Given the description of an element on the screen output the (x, y) to click on. 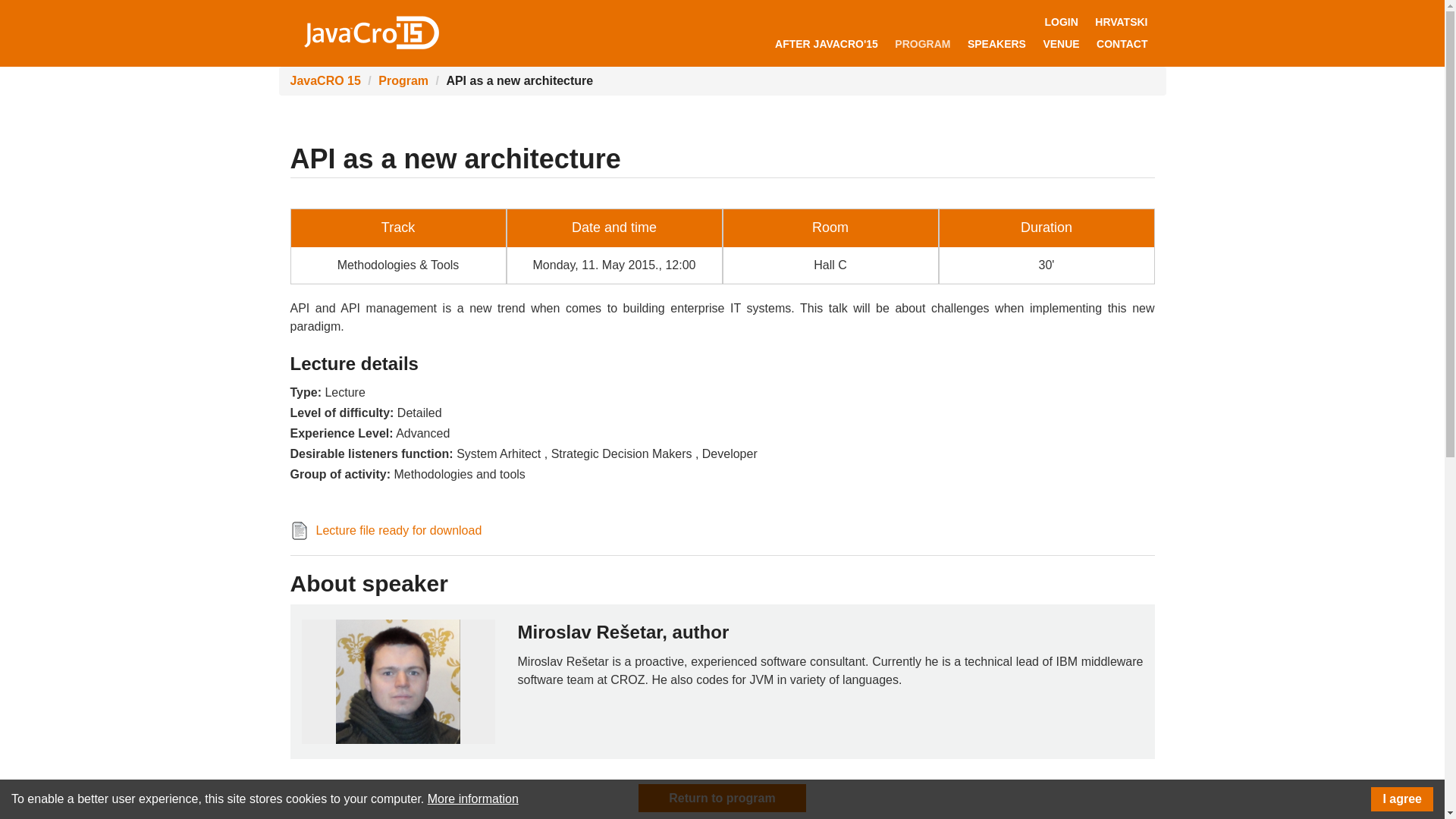
I agree (1401, 799)
VENUE (1060, 43)
AFTER JAVACRO'15 (826, 43)
PROGRAM (922, 43)
More information (473, 798)
JavaCRO 15 (370, 32)
Program (403, 80)
Lecture file ready for download (398, 530)
HRVATSKI (1120, 21)
LOGIN (1060, 21)
